Given the description of an element on the screen output the (x, y) to click on. 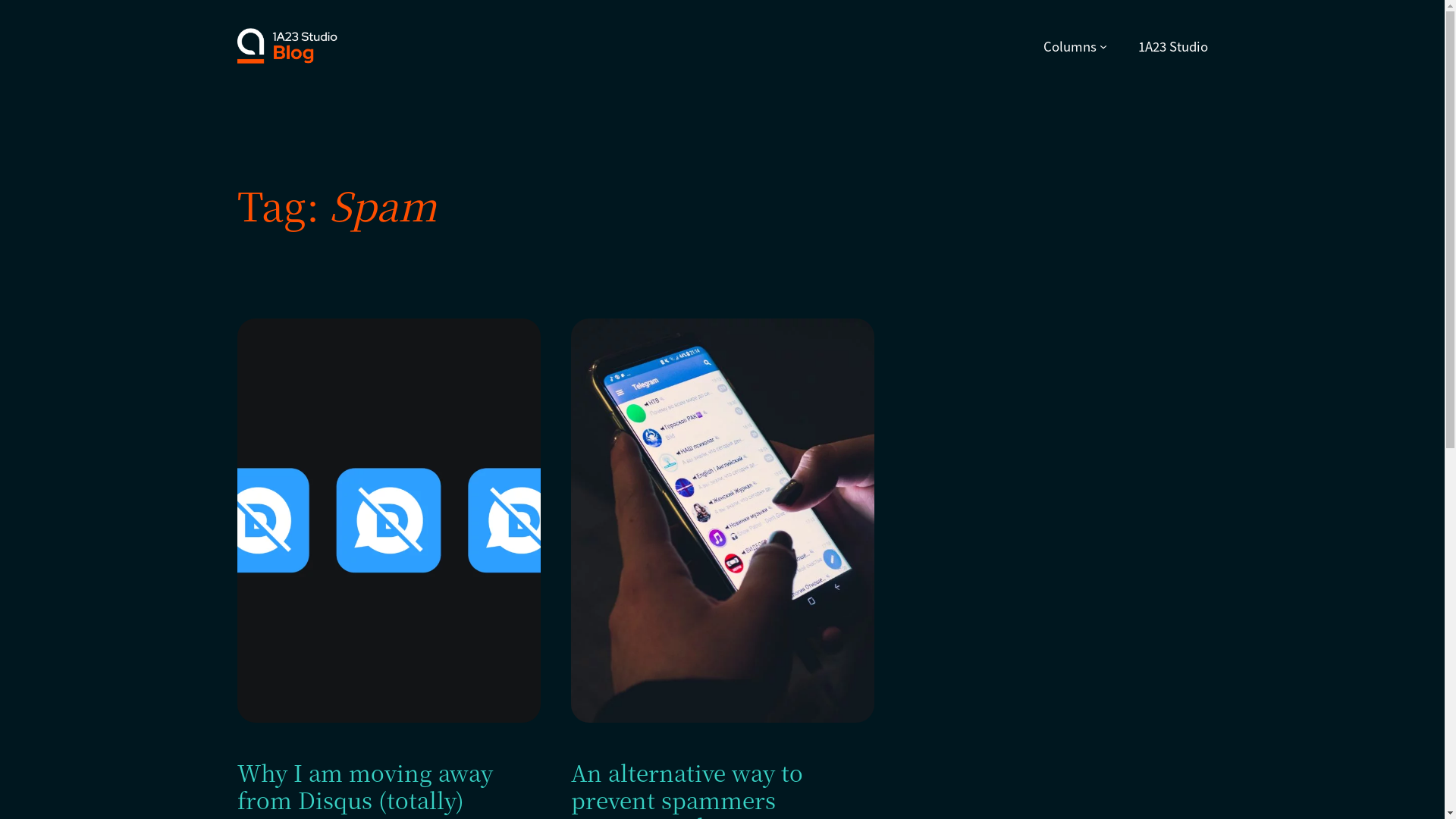
1A23 Studio Element type: text (1172, 46)
Columns Element type: text (1069, 46)
Why I am moving away from Disqus (totally) Element type: text (387, 785)
